Given the description of an element on the screen output the (x, y) to click on. 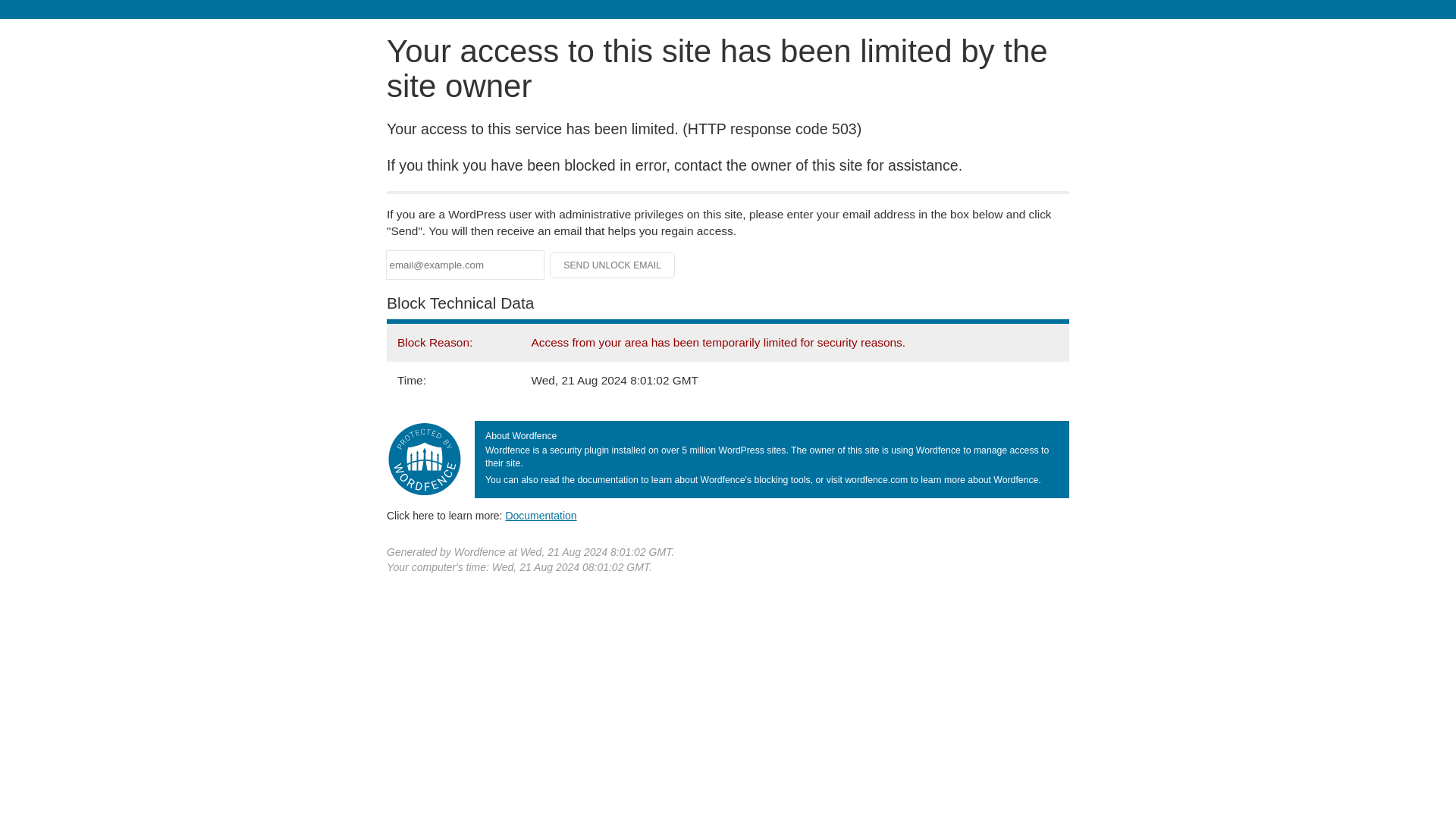
Send Unlock Email (612, 265)
Documentation (540, 515)
Send Unlock Email (612, 265)
